Given the description of an element on the screen output the (x, y) to click on. 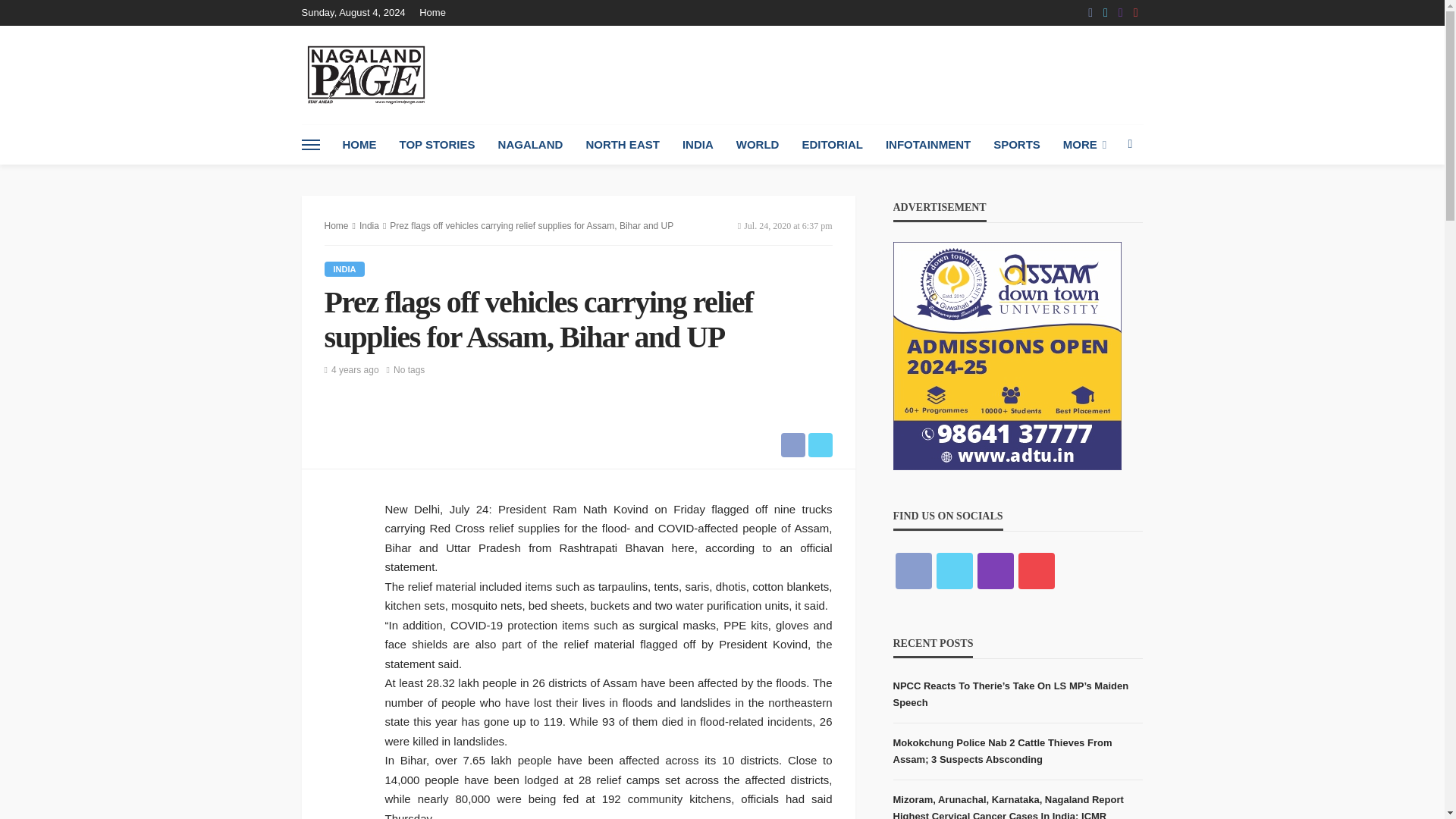
EDITORIAL (832, 144)
NAGALAND (530, 144)
INFOTAINMENT (928, 144)
India (344, 268)
WORLD (757, 144)
SPORTS (1016, 144)
HOME (358, 144)
nagaland-page-logo (365, 74)
INDIA (698, 144)
Home (435, 12)
TOP STORIES (437, 144)
Advertisement (866, 74)
NORTH EAST (622, 144)
MORE (1084, 144)
